Given the description of an element on the screen output the (x, y) to click on. 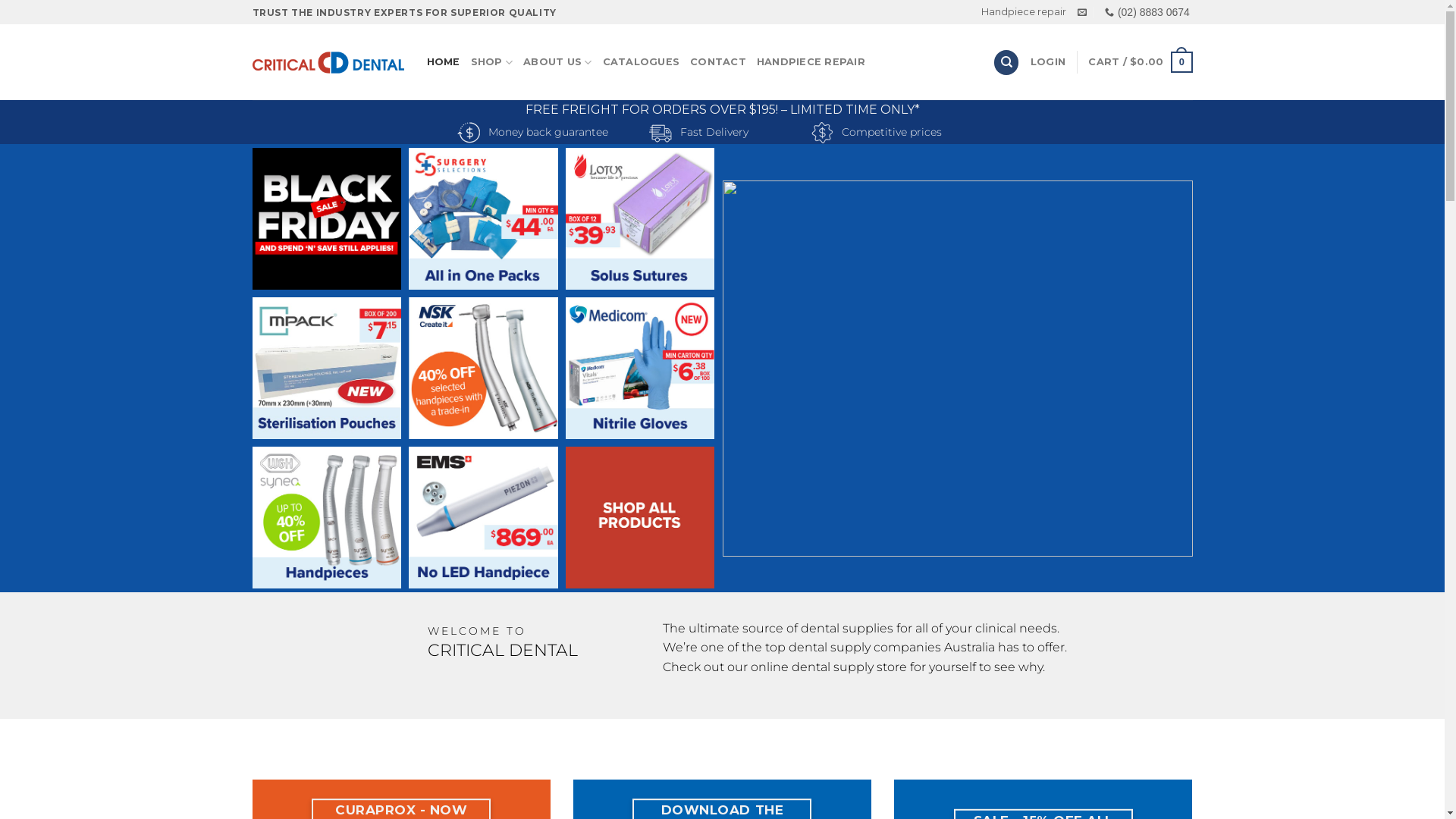
SHOP Element type: text (491, 62)
CART / $0.00
0 Element type: text (1140, 61)
LOGIN Element type: text (1047, 61)
Send us an email Element type: hover (1081, 12)
(02) 8883 0674 Element type: text (1146, 12)
HANDPIECE REPAIR Element type: text (810, 61)
CONTACT Element type: text (718, 61)
ABOUT US Element type: text (557, 62)
CATALOGUES Element type: text (641, 61)
Handpiece repair Element type: text (1023, 11)
HOME Element type: text (442, 61)
